Given the description of an element on the screen output the (x, y) to click on. 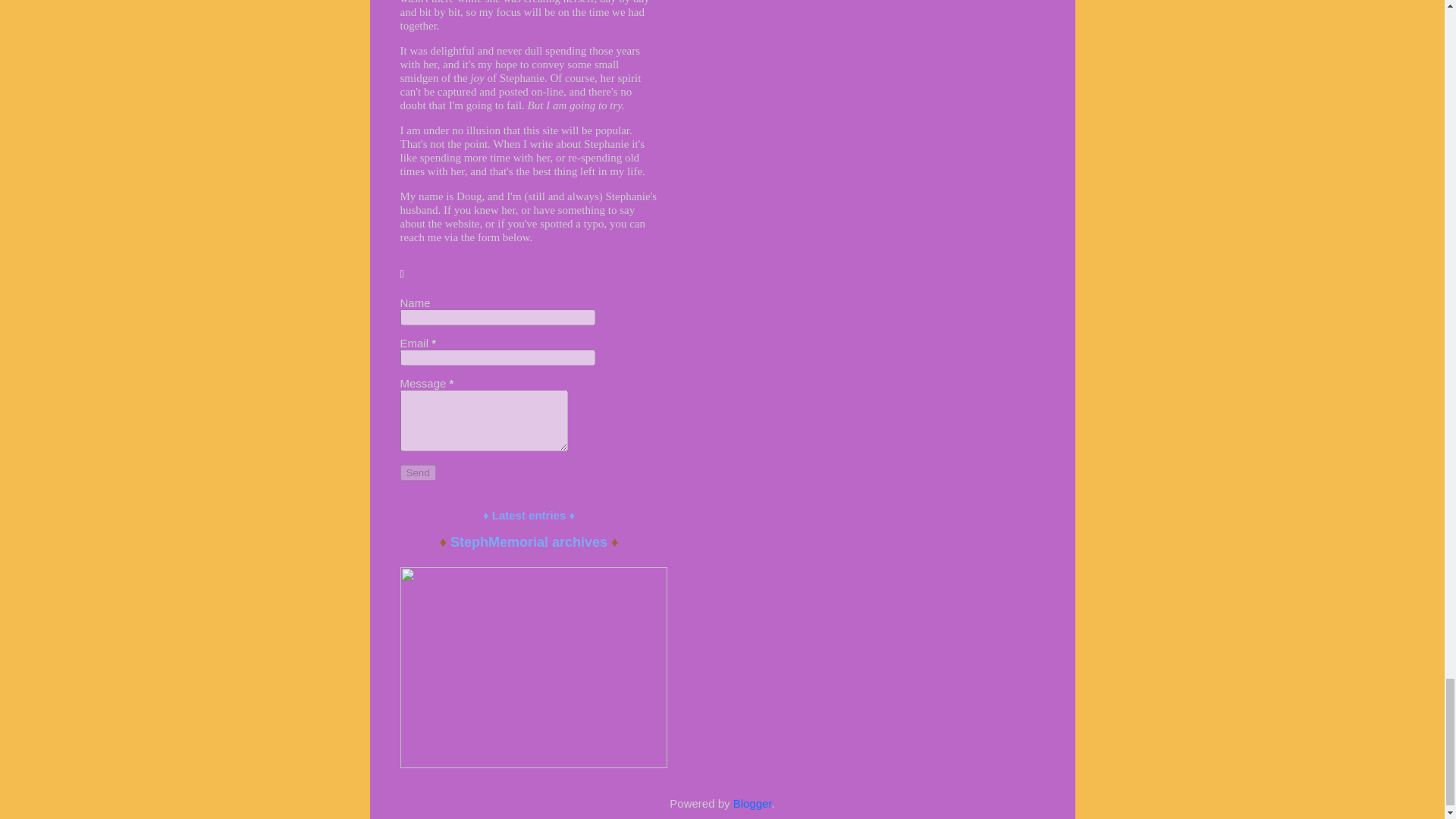
Blogger (752, 802)
Send (417, 472)
StephMemorial archives (528, 542)
